Given the description of an element on the screen output the (x, y) to click on. 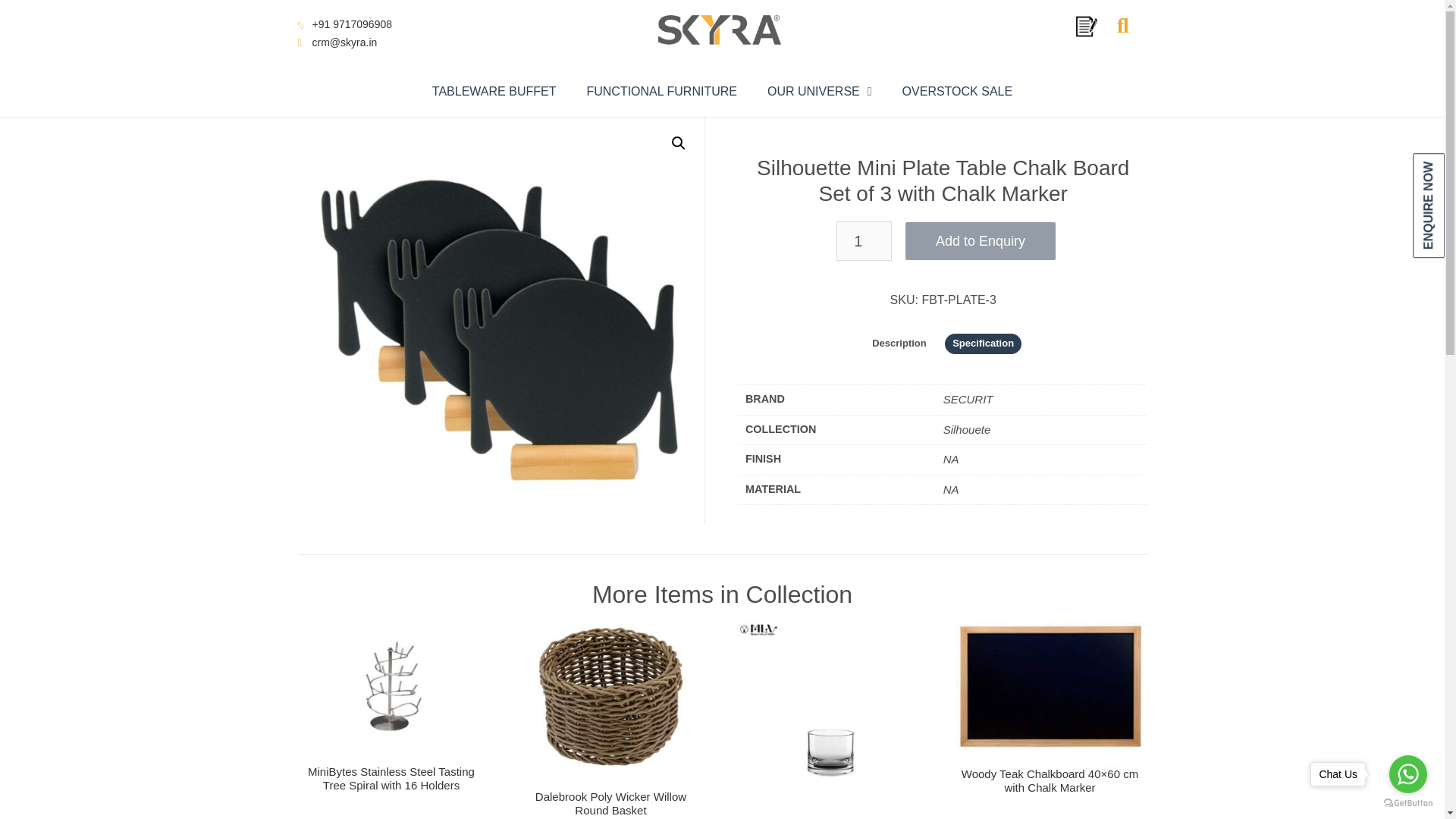
FUNCTIONAL FURNITURE (661, 91)
Qty (863, 241)
OUR UNIVERSE (819, 91)
1 (863, 241)
TABLEWARE BUFFET (494, 91)
Enquiry Cart (1086, 25)
OVERSTOCK SALE (956, 91)
